Given the description of an element on the screen output the (x, y) to click on. 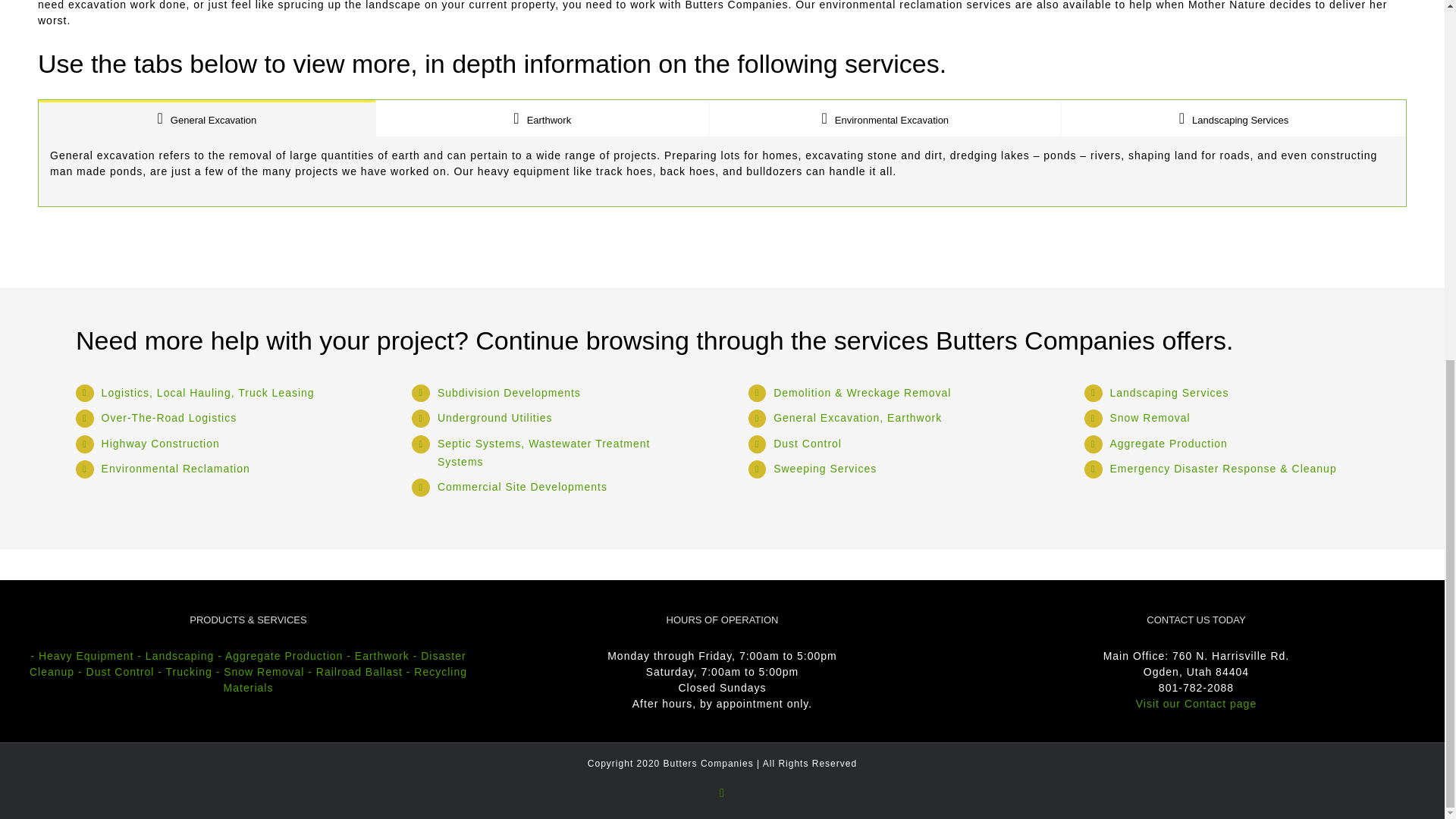
General Excavation (207, 117)
